Given the description of an element on the screen output the (x, y) to click on. 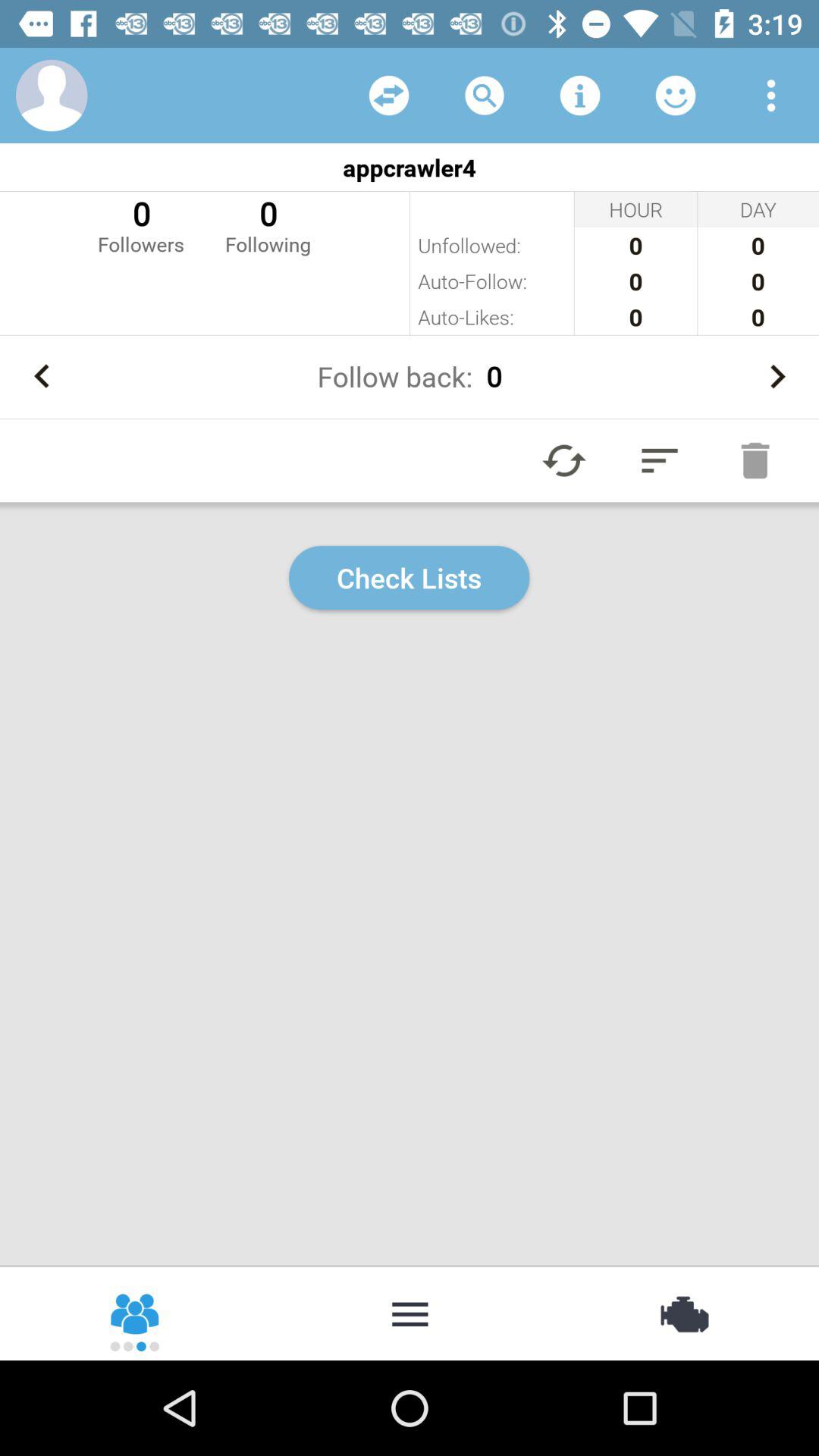
additional options (409, 1312)
